Given the description of an element on the screen output the (x, y) to click on. 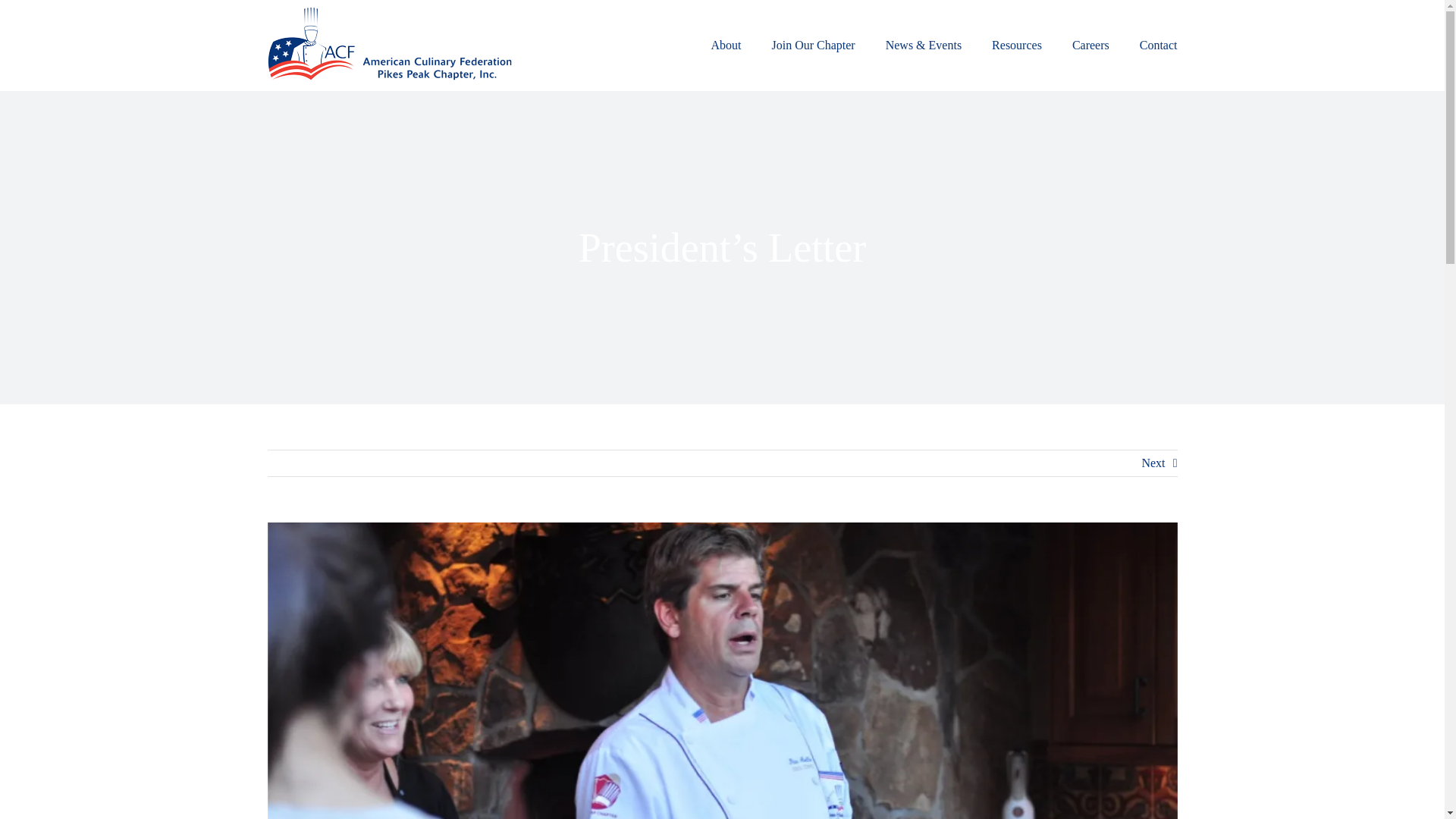
Join Our Chapter (812, 45)
